Given the description of an element on the screen output the (x, y) to click on. 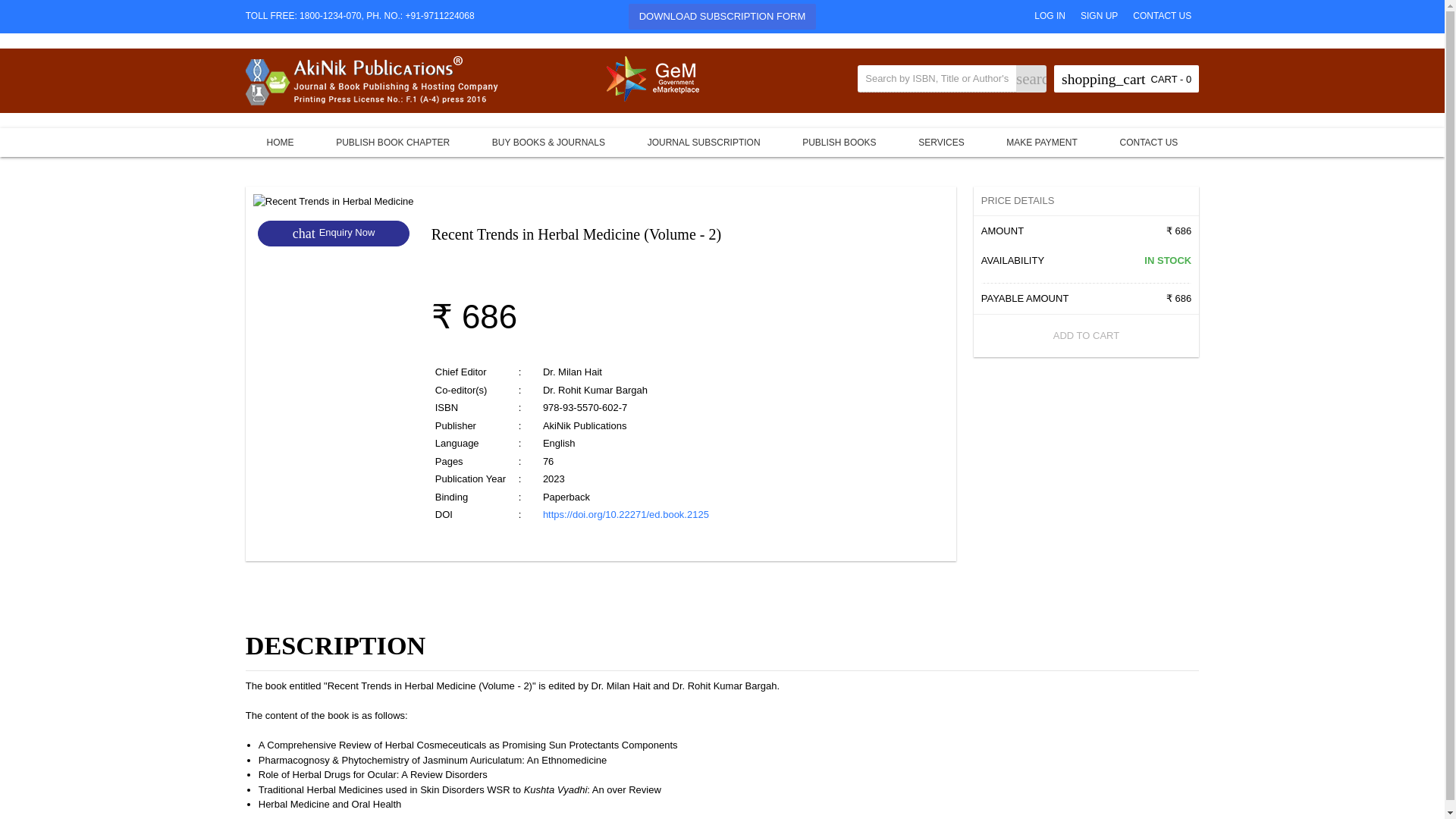
CONTACT US (1161, 15)
PUBLISH BOOK CHAPTER (392, 141)
Services (940, 141)
LOG IN (1049, 15)
Make Payment (1041, 141)
Home (280, 141)
HOME (280, 141)
Publish Books (333, 232)
DOWNLOAD SUBSCRIPTION FORM (838, 141)
Publish Book Chapter (722, 16)
Recent Trends in Herbal Medicine (392, 141)
AkiNik Publications (333, 201)
PUBLISH BOOKS (371, 80)
CONTACT US (838, 141)
